Given the description of an element on the screen output the (x, y) to click on. 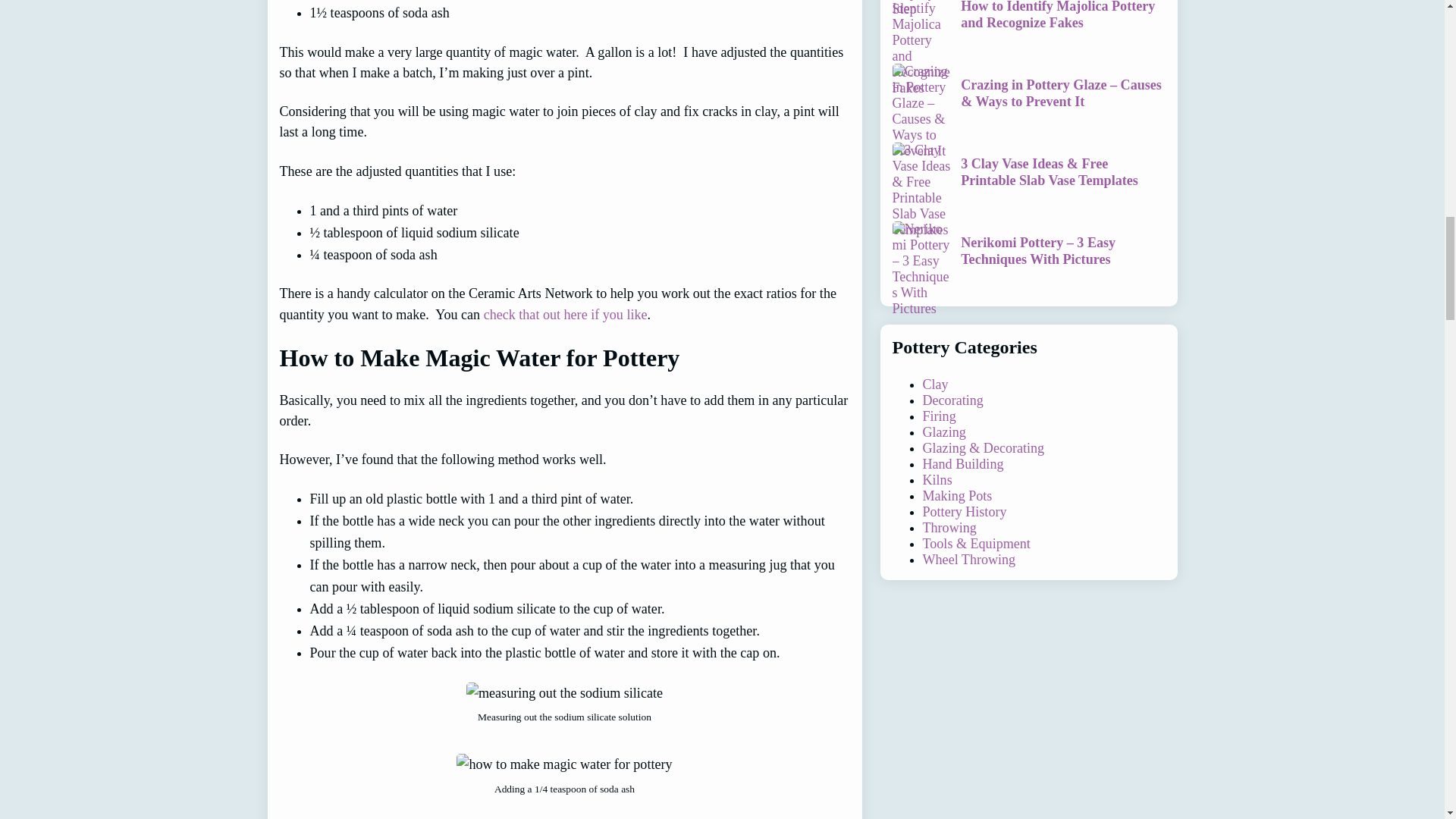
check that out here if you like (565, 314)
